Given the description of an element on the screen output the (x, y) to click on. 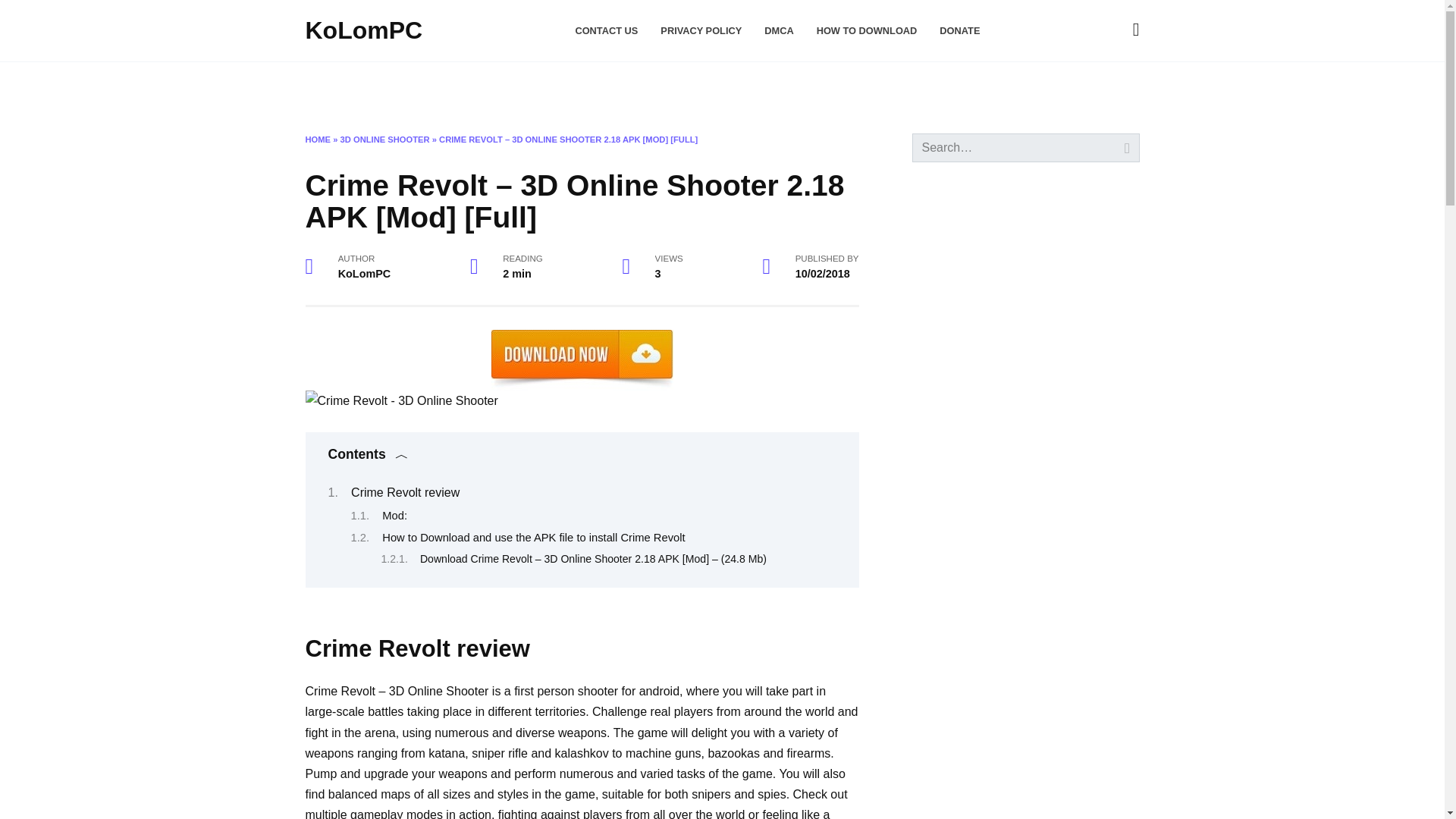
Android (560, 86)
macOS (386, 86)
Home (325, 86)
PC Games (749, 86)
CONTACT US (606, 30)
How to Download and use the APK file to install Crime Revolt (532, 537)
HOME (317, 139)
Portable Apps (655, 86)
DONATE (959, 30)
PRIVACY POLICY (701, 30)
KoLomPC (363, 30)
DMCA (778, 30)
Mod: (394, 515)
Crime Revolt review (405, 492)
Programs (467, 86)
